Given the description of an element on the screen output the (x, y) to click on. 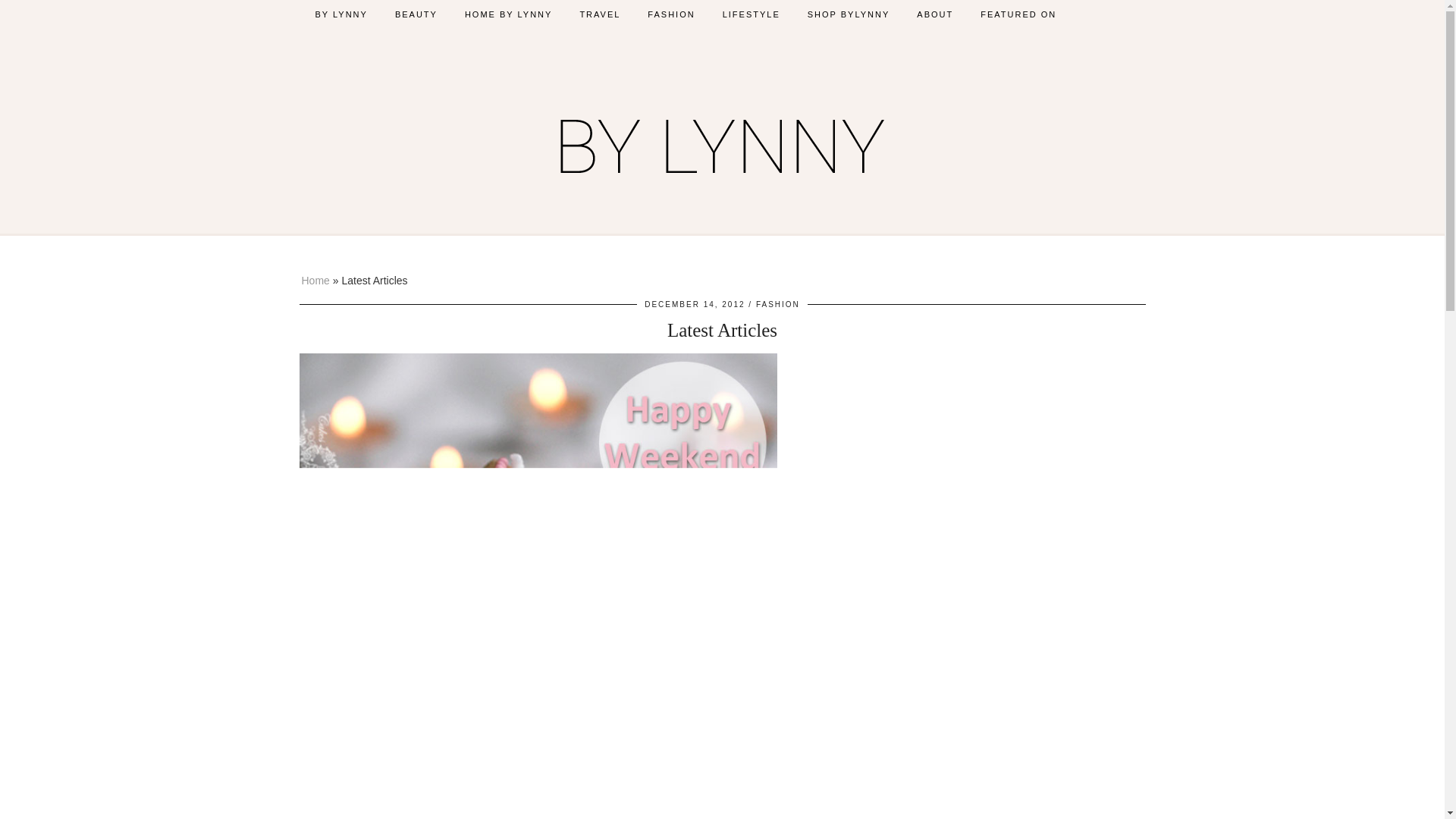
ABOUT (934, 14)
FASHION (777, 304)
Travel (599, 14)
FASHION (670, 14)
BY LYNNY (341, 14)
BEAUTY (416, 14)
LIFESTYLE (751, 14)
TRAVEL (599, 14)
By Lynny (721, 140)
SHOP BYLYNNY (848, 14)
